Given the description of an element on the screen output the (x, y) to click on. 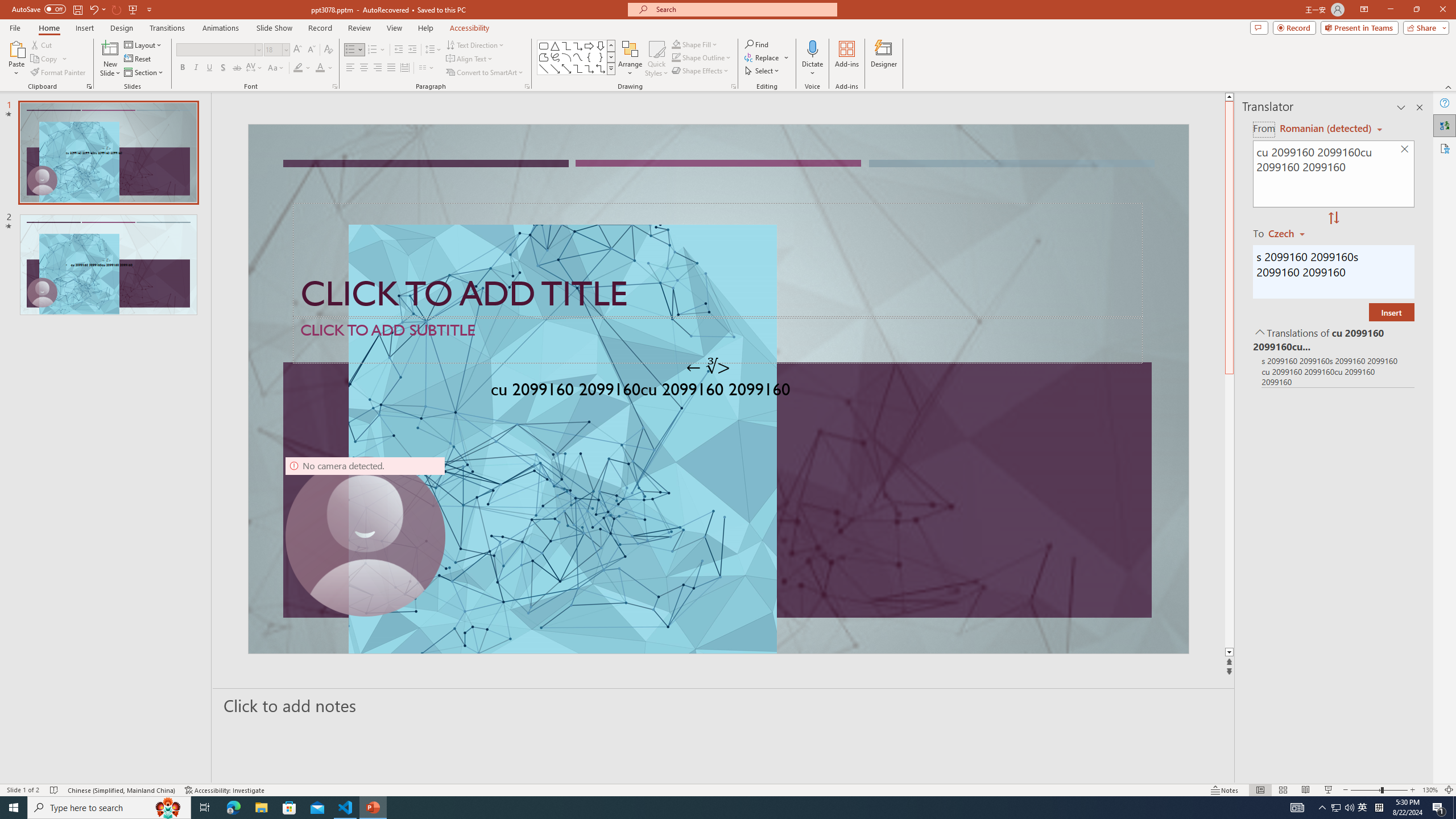
Open (285, 49)
Align Left (349, 67)
Left Brace (589, 57)
Arc (566, 57)
Title TextBox (717, 260)
Shape Fill (694, 44)
Shapes (611, 68)
Font (215, 49)
Align Text (470, 58)
Increase Indent (412, 49)
Paste (16, 58)
Arrange (630, 58)
